Given the description of an element on the screen output the (x, y) to click on. 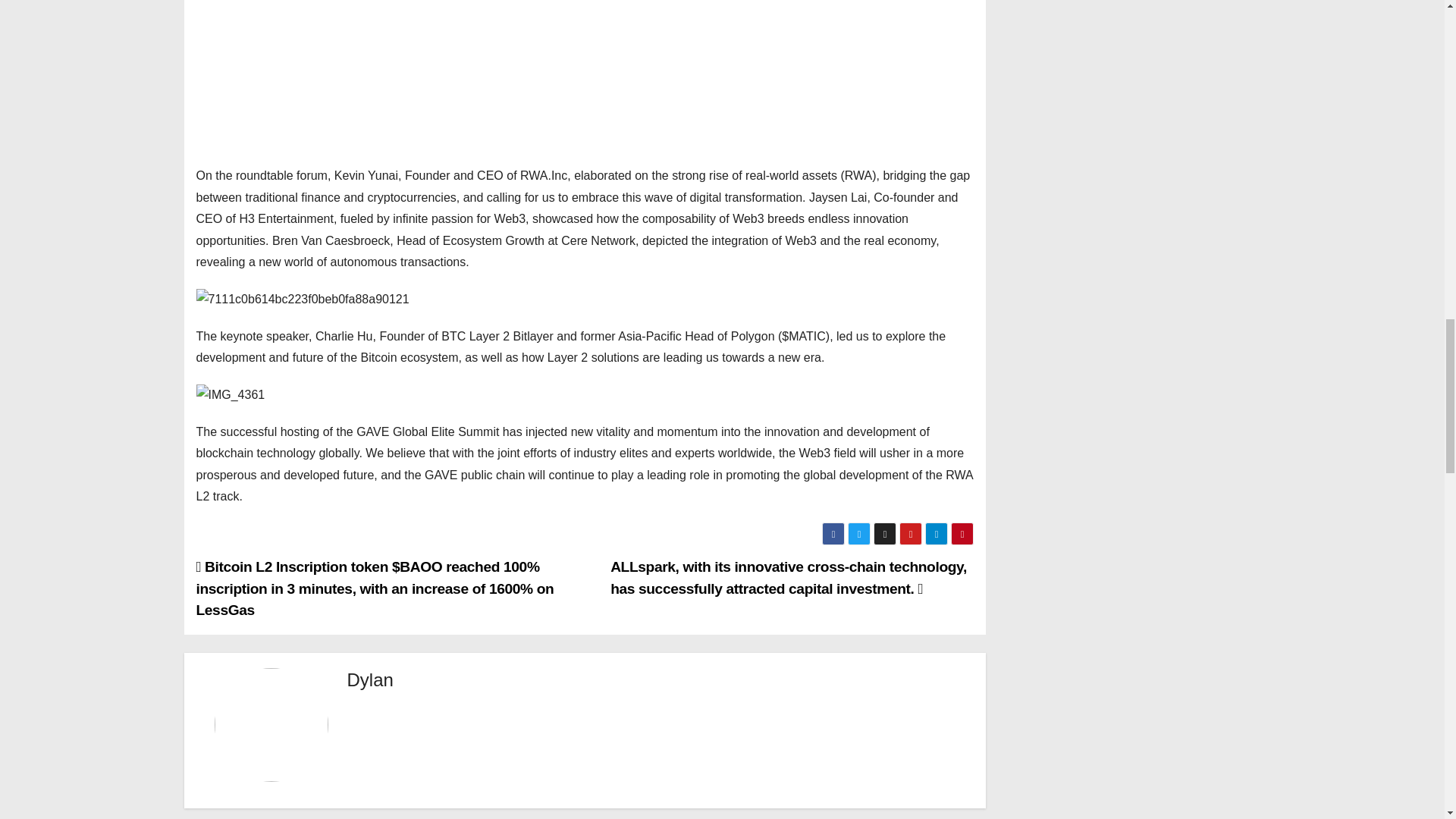
Dylan (370, 679)
